Given the description of an element on the screen output the (x, y) to click on. 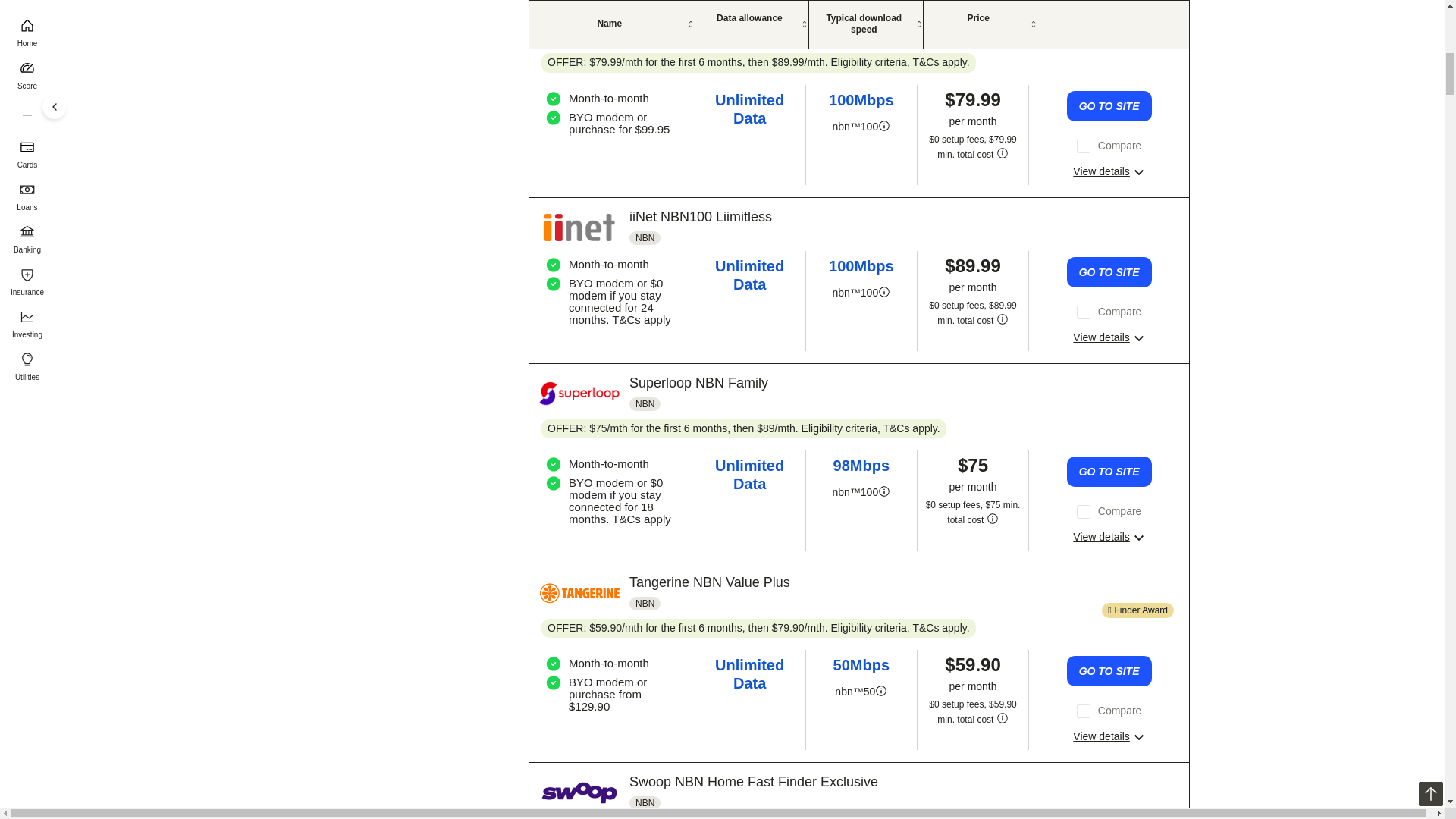
NBN 100 (883, 126)
Apply Now For The TPG NBN100 (1109, 105)
Read More About The TPG NBN100 (1109, 171)
NBN 100 (883, 292)
